Given the description of an element on the screen output the (x, y) to click on. 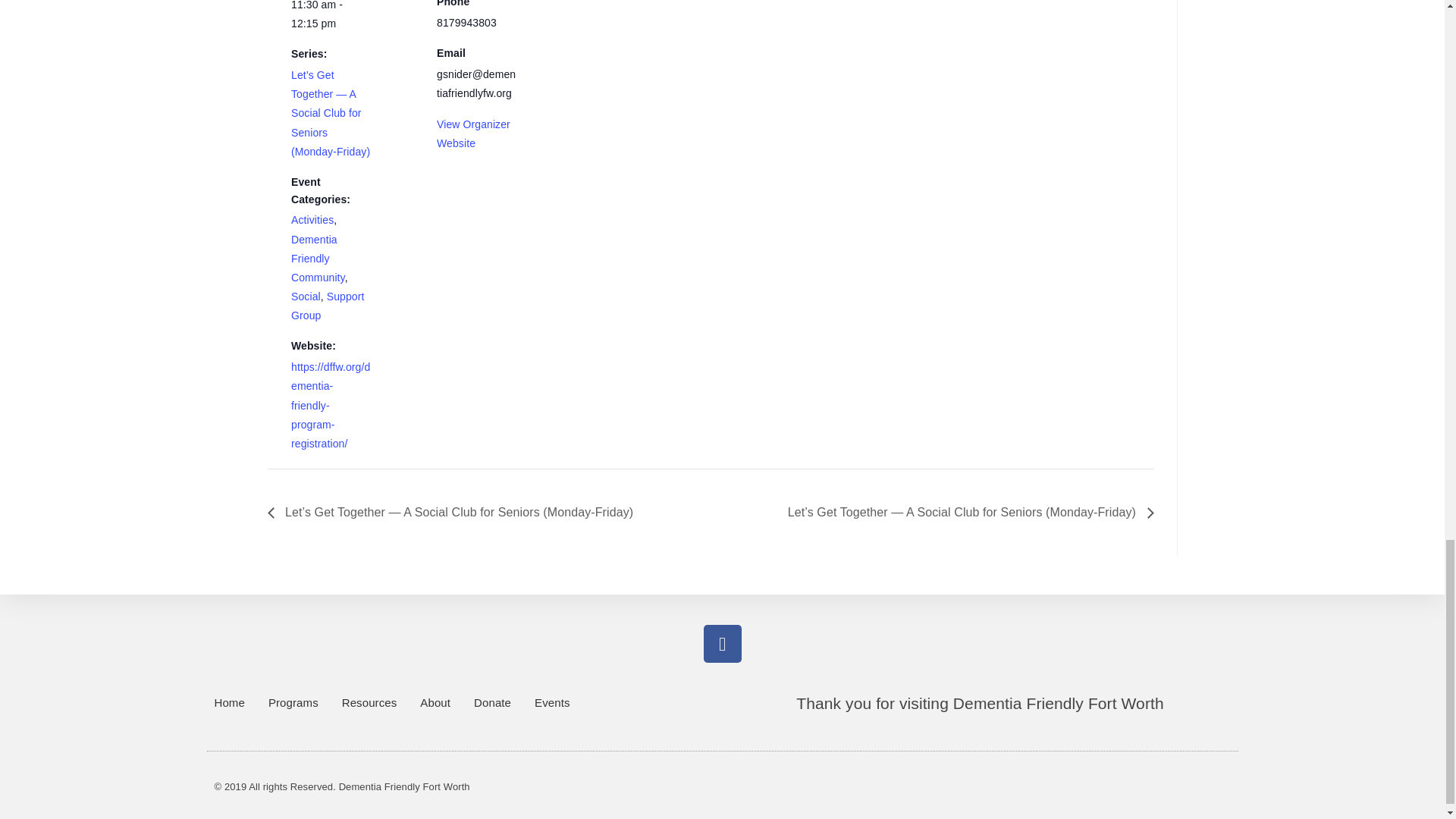
2023-07-14 (331, 16)
